Given the description of an element on the screen output the (x, y) to click on. 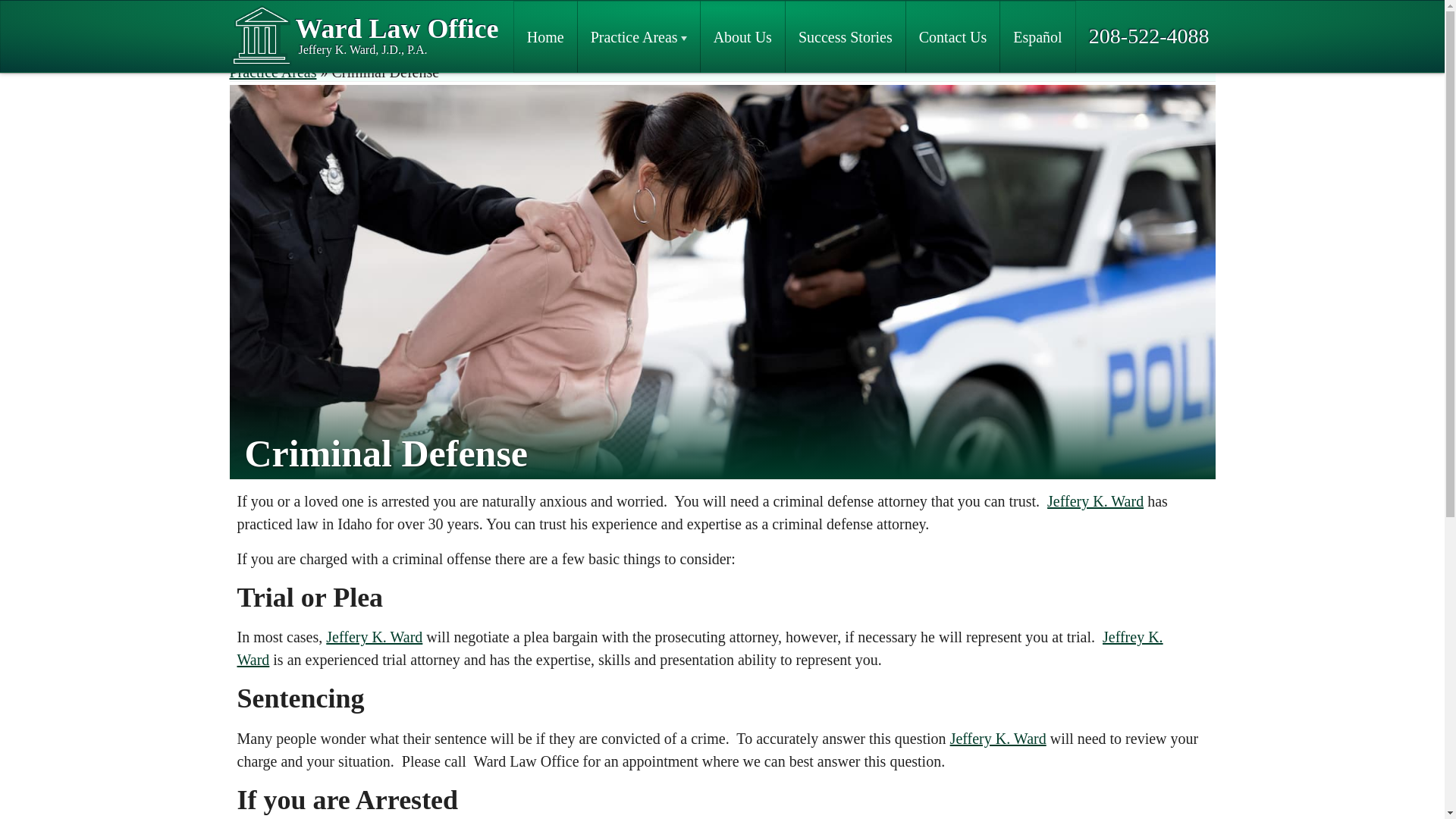
Practice Areas (271, 71)
Criminal Defense (638, 187)
Personal Injury (363, 36)
About Us (638, 146)
Jeffery K. Ward (743, 36)
Success Stories (998, 738)
Jeffery K. Ward (844, 36)
Practice Areas (1094, 501)
Home (638, 36)
Jeffery K. Ward (545, 36)
Jeffrey K. Ward (374, 636)
Immigration (698, 648)
Contact Us (638, 228)
Feature image (952, 36)
